Given the description of an element on the screen output the (x, y) to click on. 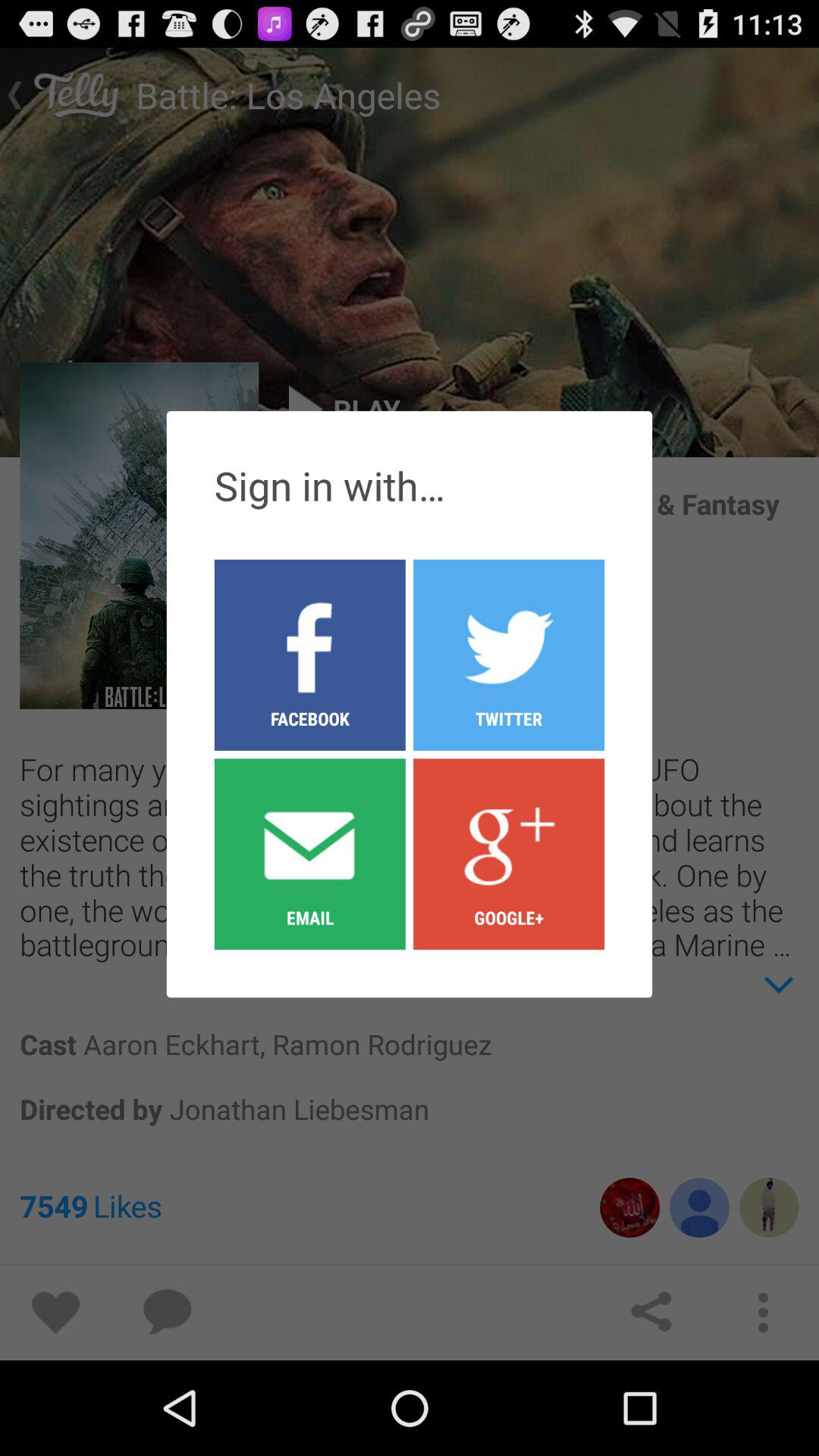
tap button above email icon (508, 654)
